Given the description of an element on the screen output the (x, y) to click on. 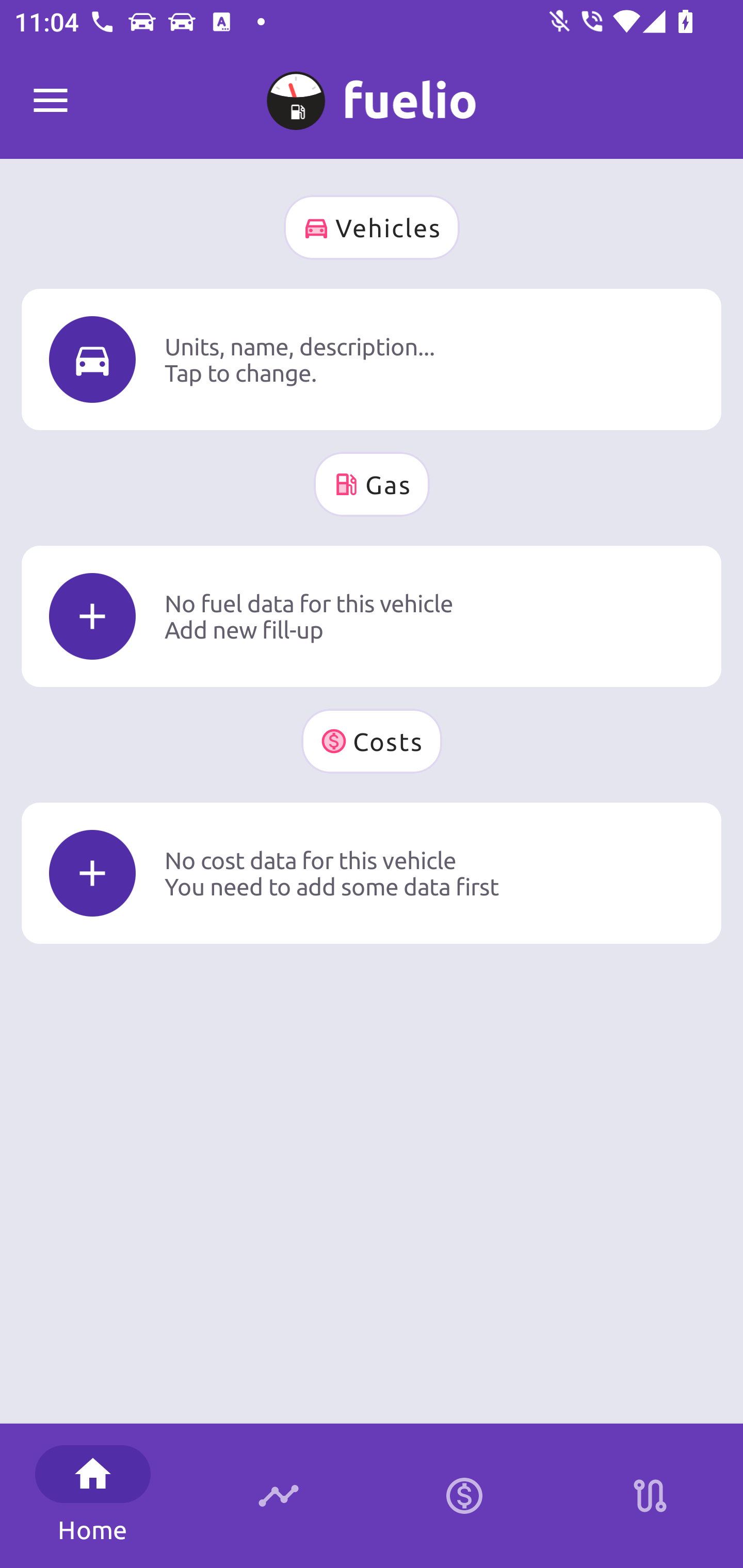
M My Car 0 km (371, 92)
Fuelio (50, 101)
Vehicles (371, 227)
Icon Units, name, description...
Tap to change. (371, 358)
Icon (92, 359)
Gas (371, 484)
Icon No fuel data for this vehicle
Add new fill-up (371, 615)
Icon (92, 616)
Costs (371, 740)
Icon (92, 873)
Timeline (278, 1495)
Calculator (464, 1495)
Stations on route (650, 1495)
